Given the description of an element on the screen output the (x, y) to click on. 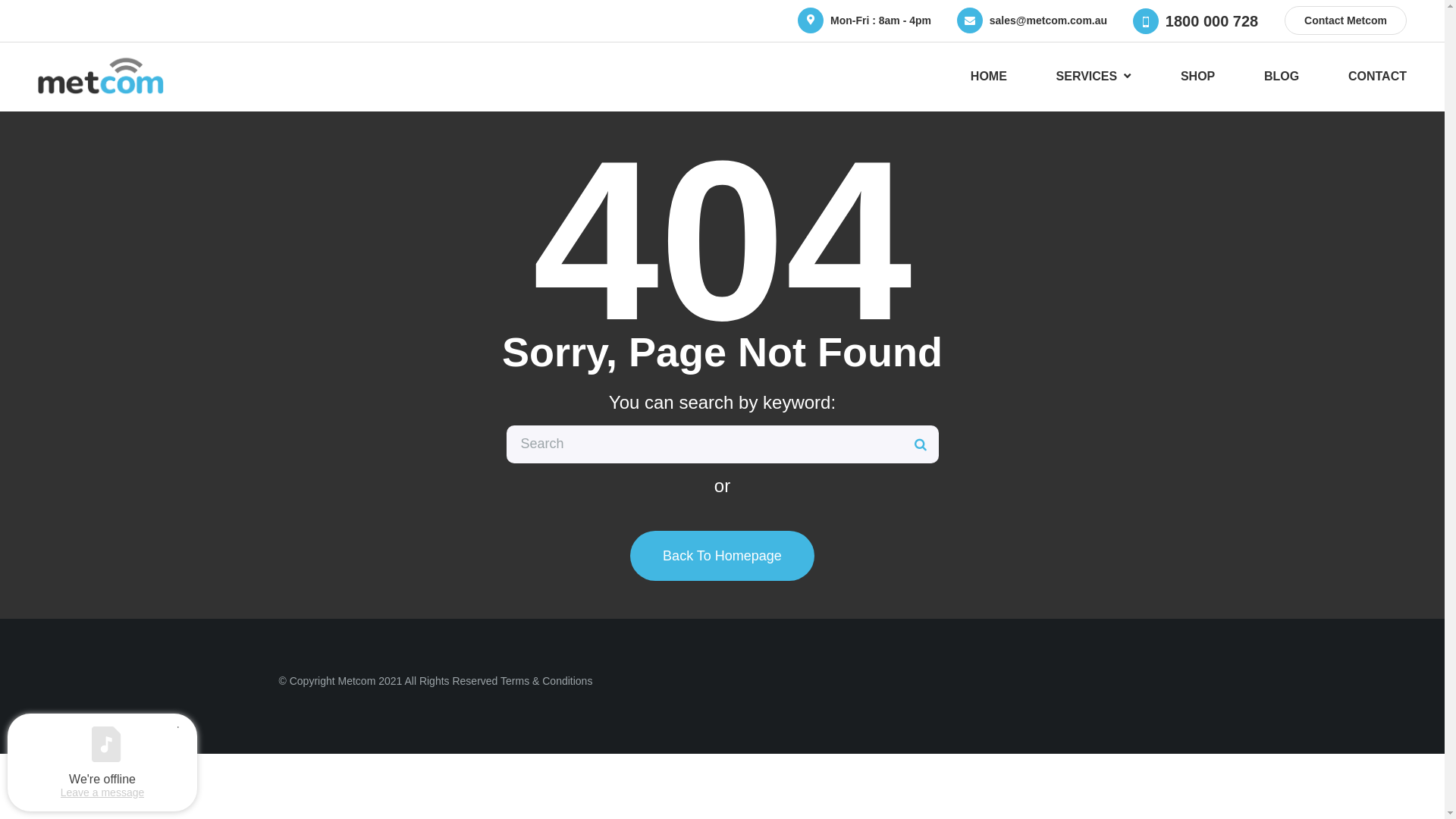
SHOP Element type: text (1197, 76)
sales@metcom.com.au Element type: text (1048, 20)
Contact Metcom Element type: text (1345, 20)
BLOG Element type: text (1281, 76)
SERVICES Element type: text (1094, 76)
Search for: Element type: hover (722, 444)
CONTACT Element type: text (1377, 76)
1800 000 728 Element type: text (1211, 20)
HOME Element type: text (988, 76)
Terms & Conditions Element type: text (546, 680)
Back To Homepage Element type: text (722, 555)
